Given the description of an element on the screen output the (x, y) to click on. 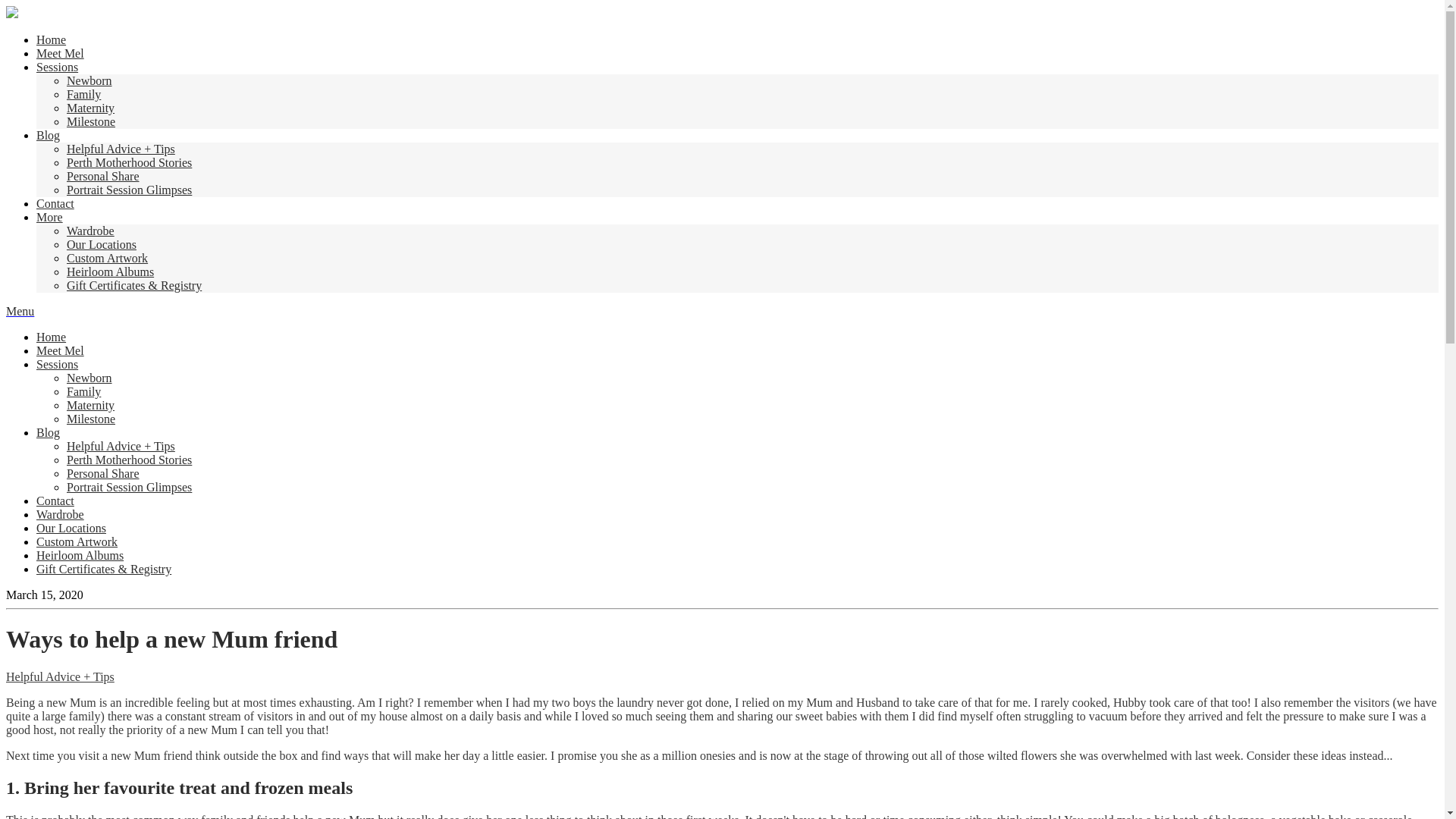
Portrait Session Glimpses Element type: text (128, 189)
Maternity Element type: text (90, 107)
Gift Certificates & Registry Element type: text (133, 285)
Newborn Element type: text (89, 80)
Sessions Element type: text (57, 363)
Contact Element type: text (55, 203)
Custom Artwork Element type: text (106, 257)
Personal Share Element type: text (102, 473)
Milestone Element type: text (90, 418)
Family Element type: text (83, 93)
Blog Element type: text (47, 134)
Newborn Element type: text (89, 377)
Perth Motherhood Stories Element type: text (128, 162)
Meet Mel Element type: text (60, 350)
Family Element type: text (83, 391)
Custom Artwork Element type: text (76, 541)
Milestone Element type: text (90, 121)
Personal Share Element type: text (102, 175)
Wardrobe Element type: text (90, 230)
Our Locations Element type: text (101, 244)
More Element type: text (49, 216)
Home Element type: text (50, 336)
Maternity Element type: text (90, 404)
Home Element type: text (50, 39)
Perth Motherhood Stories Element type: text (128, 459)
Heirloom Albums Element type: text (79, 555)
Helpful Advice + Tips Element type: text (60, 676)
Meet Mel Element type: text (60, 53)
Portrait Session Glimpses Element type: text (128, 486)
Our Locations Element type: text (71, 527)
Helpful Advice + Tips Element type: text (120, 445)
Wardrobe Element type: text (60, 514)
Contact Element type: text (55, 500)
Helpful Advice + Tips Element type: text (120, 148)
Blog Element type: text (47, 432)
Gift Certificates & Registry Element type: text (103, 568)
Sessions Element type: text (57, 66)
Menu Element type: text (20, 310)
Heirloom Albums Element type: text (109, 271)
